Given the description of an element on the screen output the (x, y) to click on. 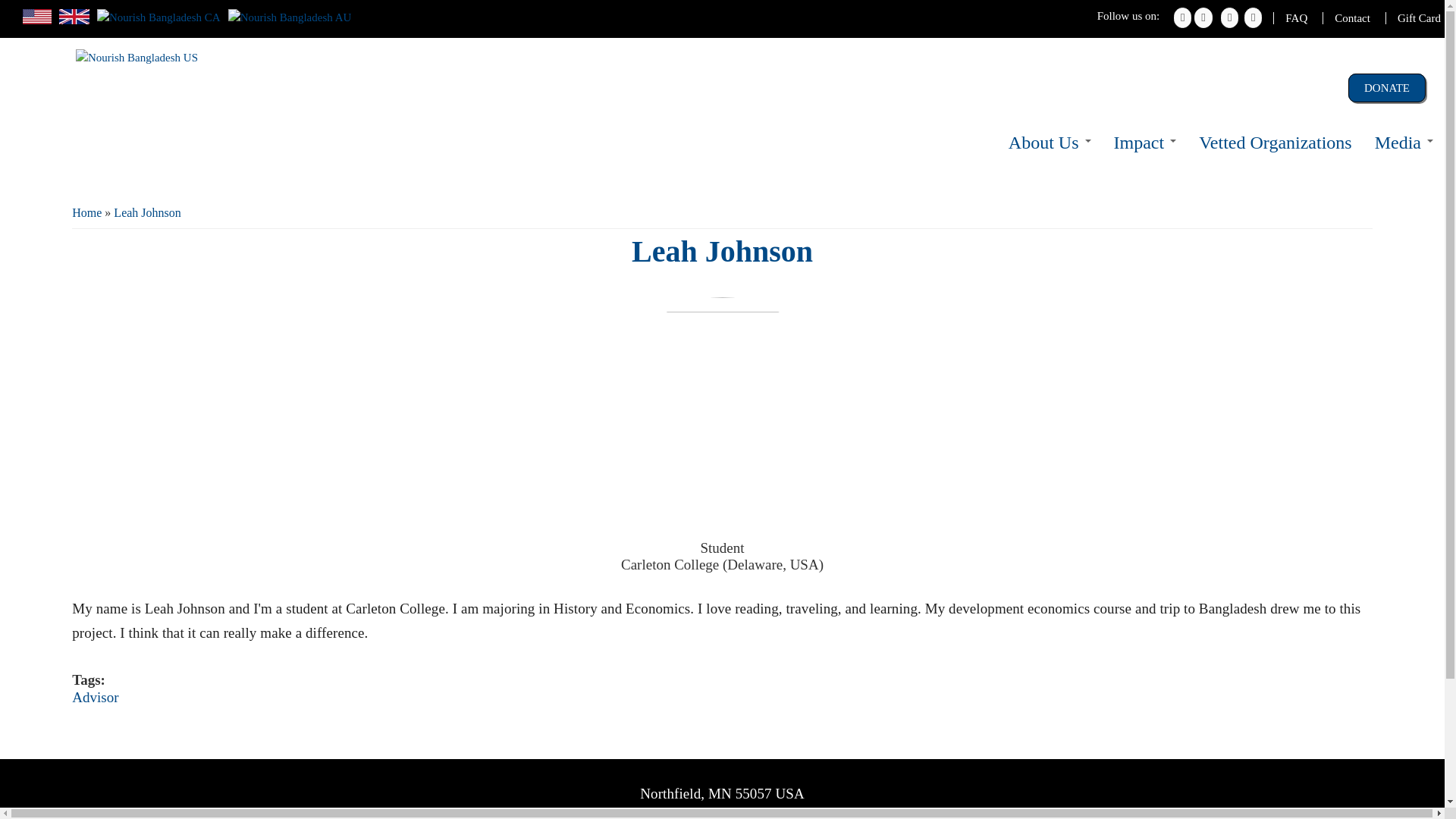
DONATE (1386, 87)
About Us (1049, 142)
FAQ (1289, 18)
Home (136, 94)
Media (1403, 142)
Nourish Bangladesh CA (159, 17)
Contact (1346, 18)
Impact (1145, 142)
Nourish Bangladesh AU (290, 17)
